Given the description of an element on the screen output the (x, y) to click on. 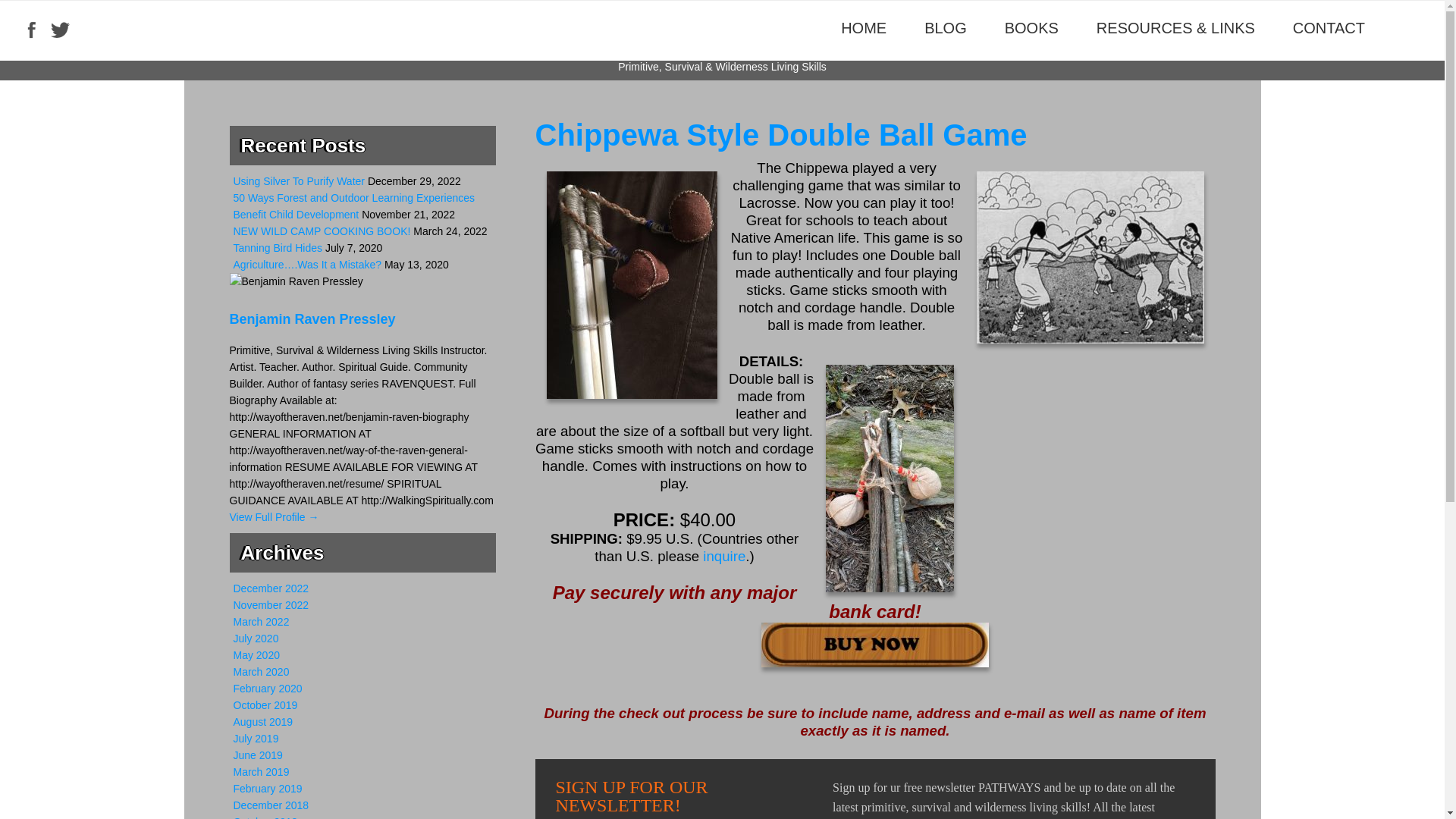
December 2018 (270, 805)
Tanning Bird Hides (277, 247)
November 2022 (270, 604)
May 2020 (255, 654)
Chippewa Style Double Ball Game (781, 134)
October 2019 (265, 705)
August 2019 (263, 721)
March 2019 (260, 771)
December 2022 (270, 588)
July 2020 (255, 638)
July 2019 (255, 738)
June 2019 (257, 755)
March 2022 (260, 621)
Using Silver To Purify Water (298, 181)
